Given the description of an element on the screen output the (x, y) to click on. 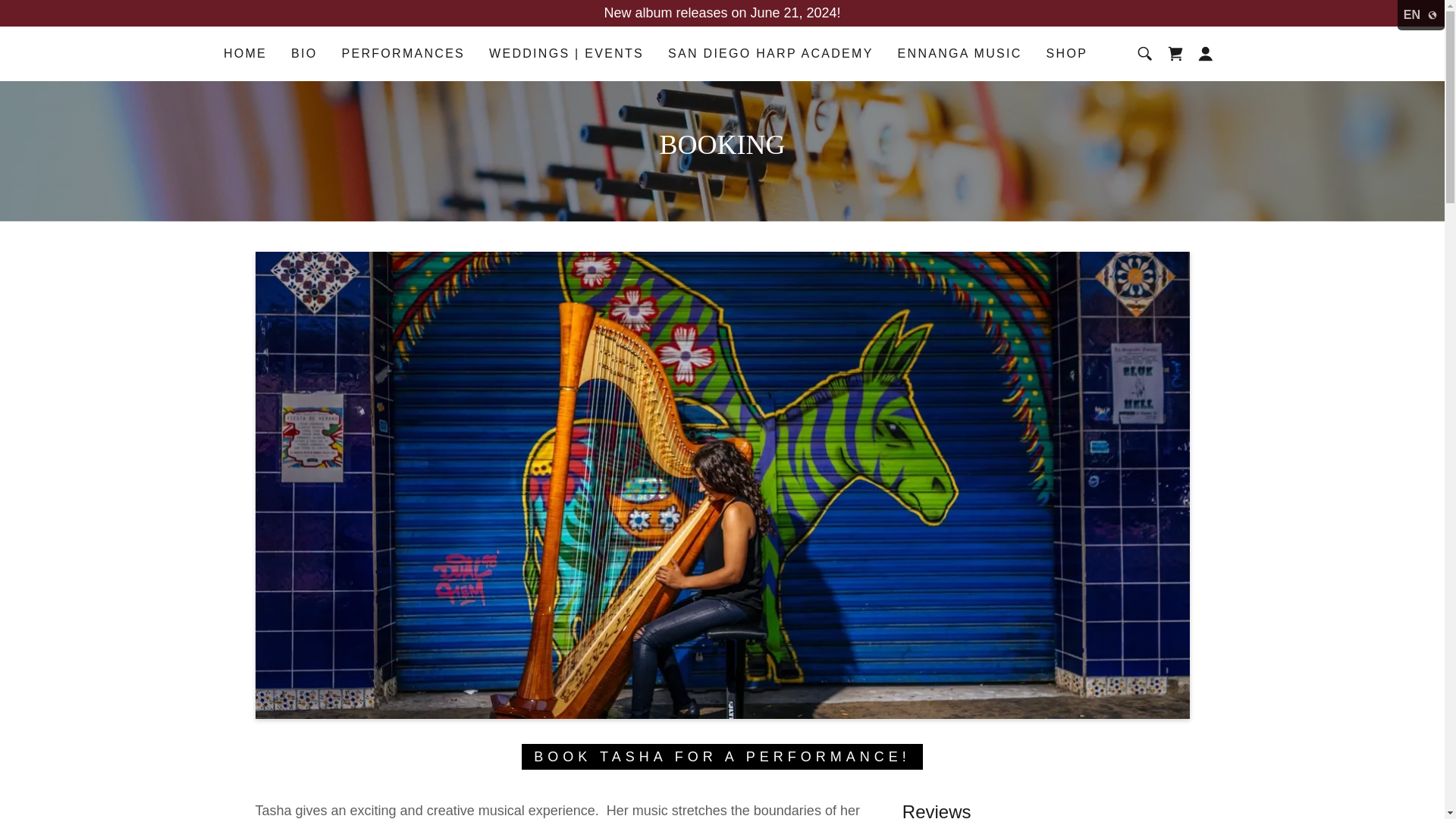
SAN DIEGO HARP ACADEMY (770, 53)
BIO (303, 53)
SHOP (1067, 53)
PERFORMANCES (402, 53)
ENNANGA MUSIC (959, 53)
HOME (244, 53)
